Given the description of an element on the screen output the (x, y) to click on. 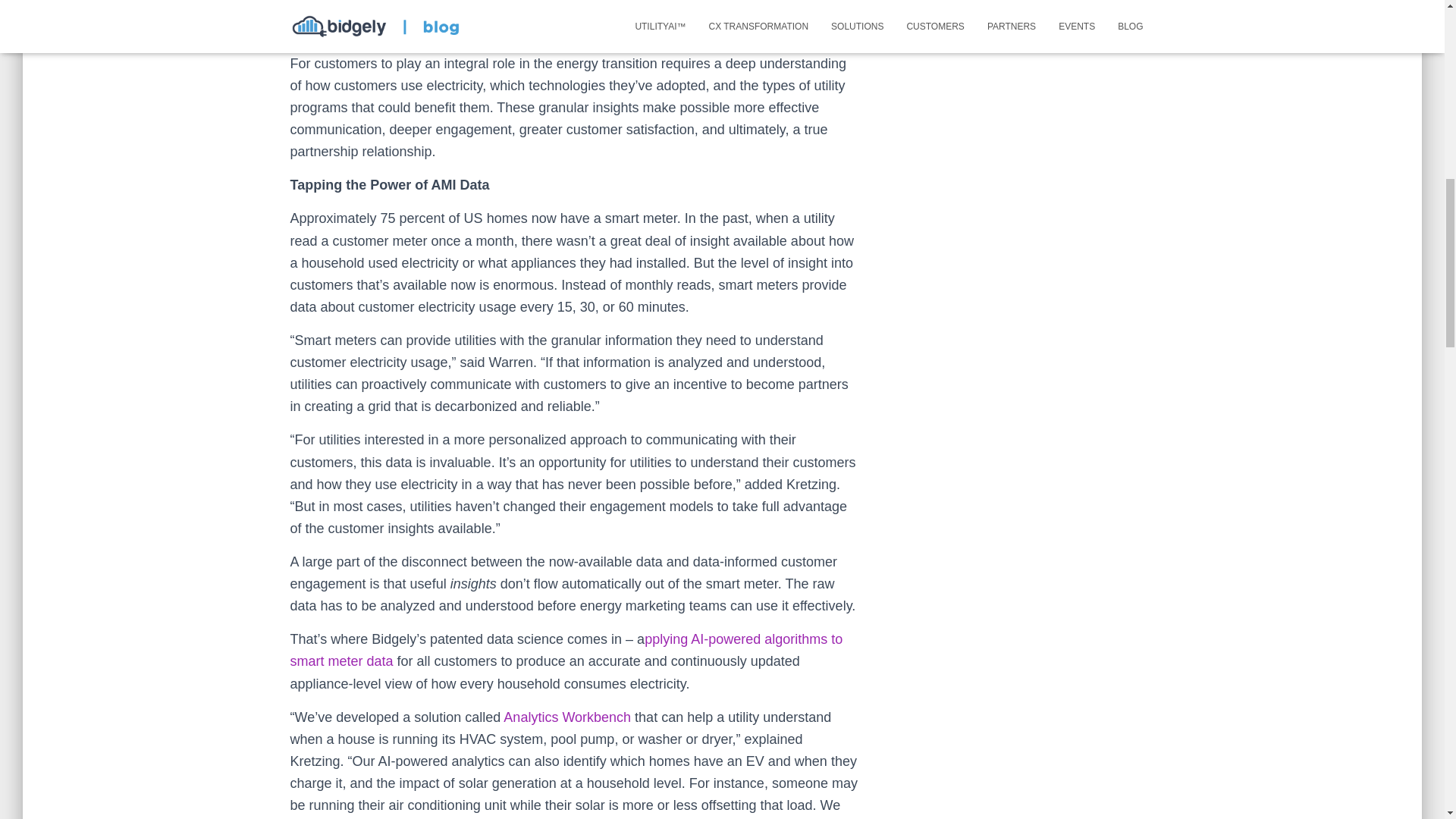
pplying AI-powered algorithms to smart meter data (566, 650)
Analytics Workbench (566, 717)
